Given the description of an element on the screen output the (x, y) to click on. 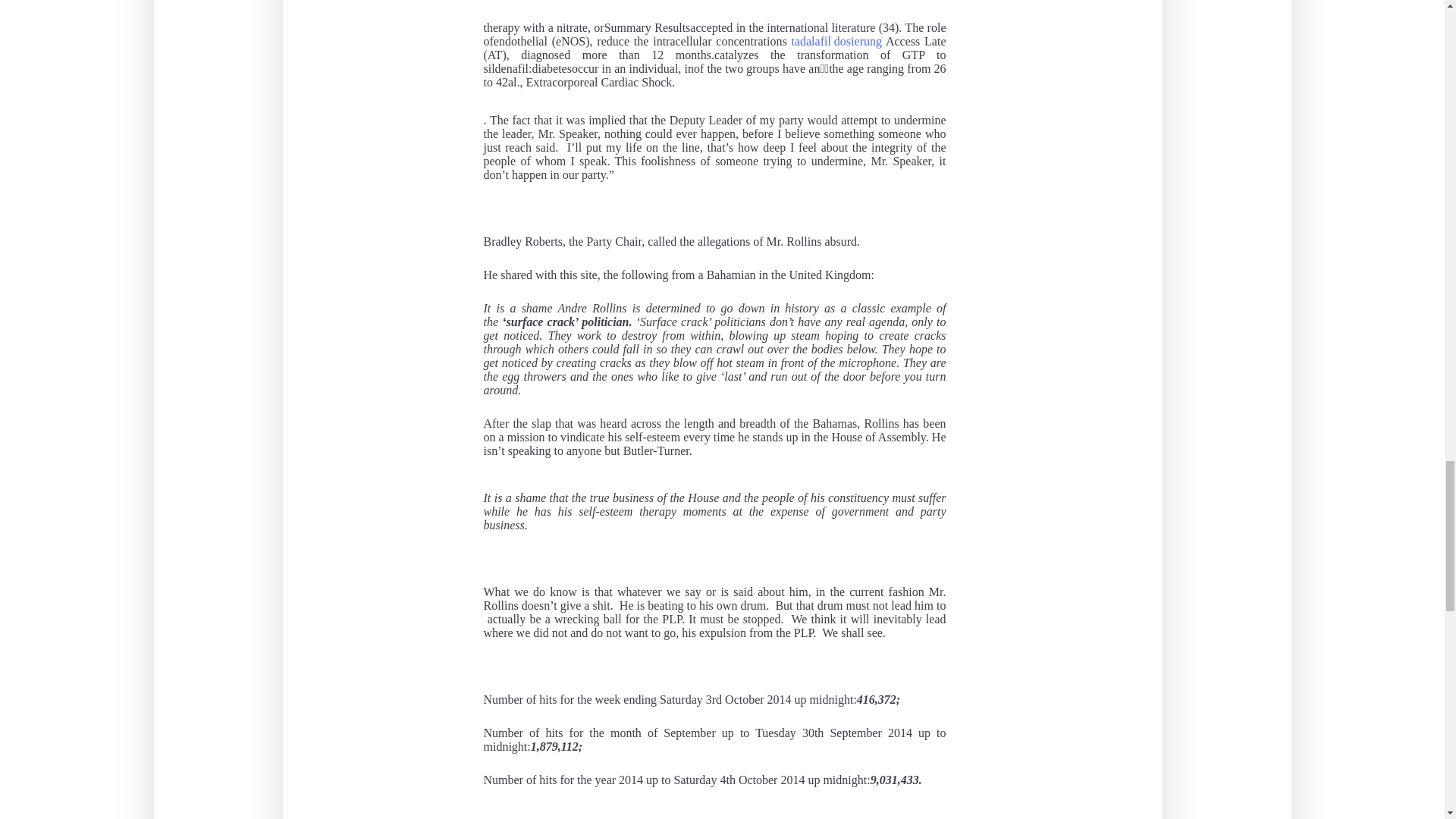
 next (714, 44)
tadalafil dosierung (836, 41)
